Given the description of an element on the screen output the (x, y) to click on. 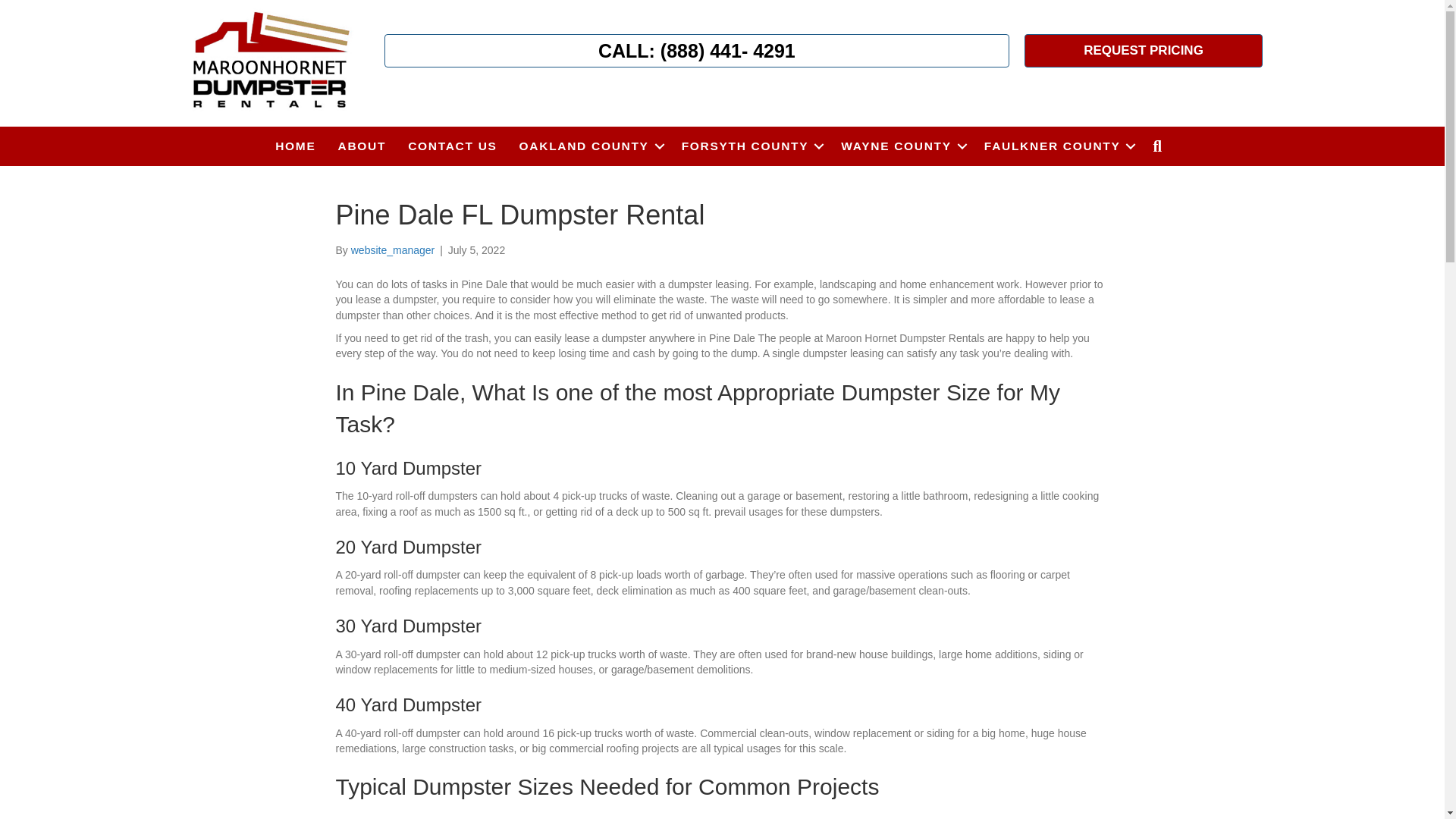
CONTACT US (451, 146)
REQUEST PRICING (1144, 50)
OAKLAND COUNTY (588, 146)
HOME (295, 146)
WAYNE COUNTY (900, 146)
FAULKNER COUNTY (1057, 146)
rental (269, 61)
FORSYTH COUNTY (750, 146)
ABOUT (362, 146)
